Given the description of an element on the screen output the (x, y) to click on. 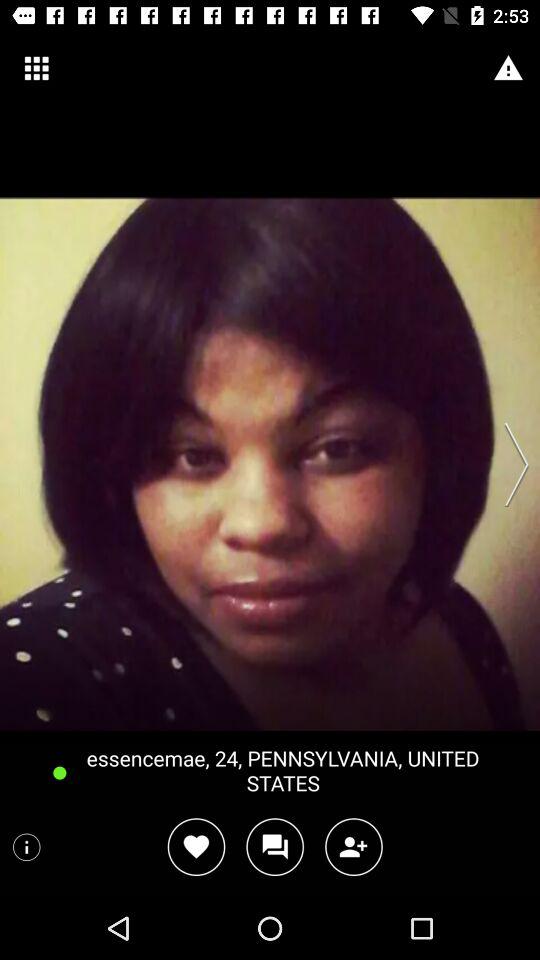
send message (274, 846)
